Given the description of an element on the screen output the (x, y) to click on. 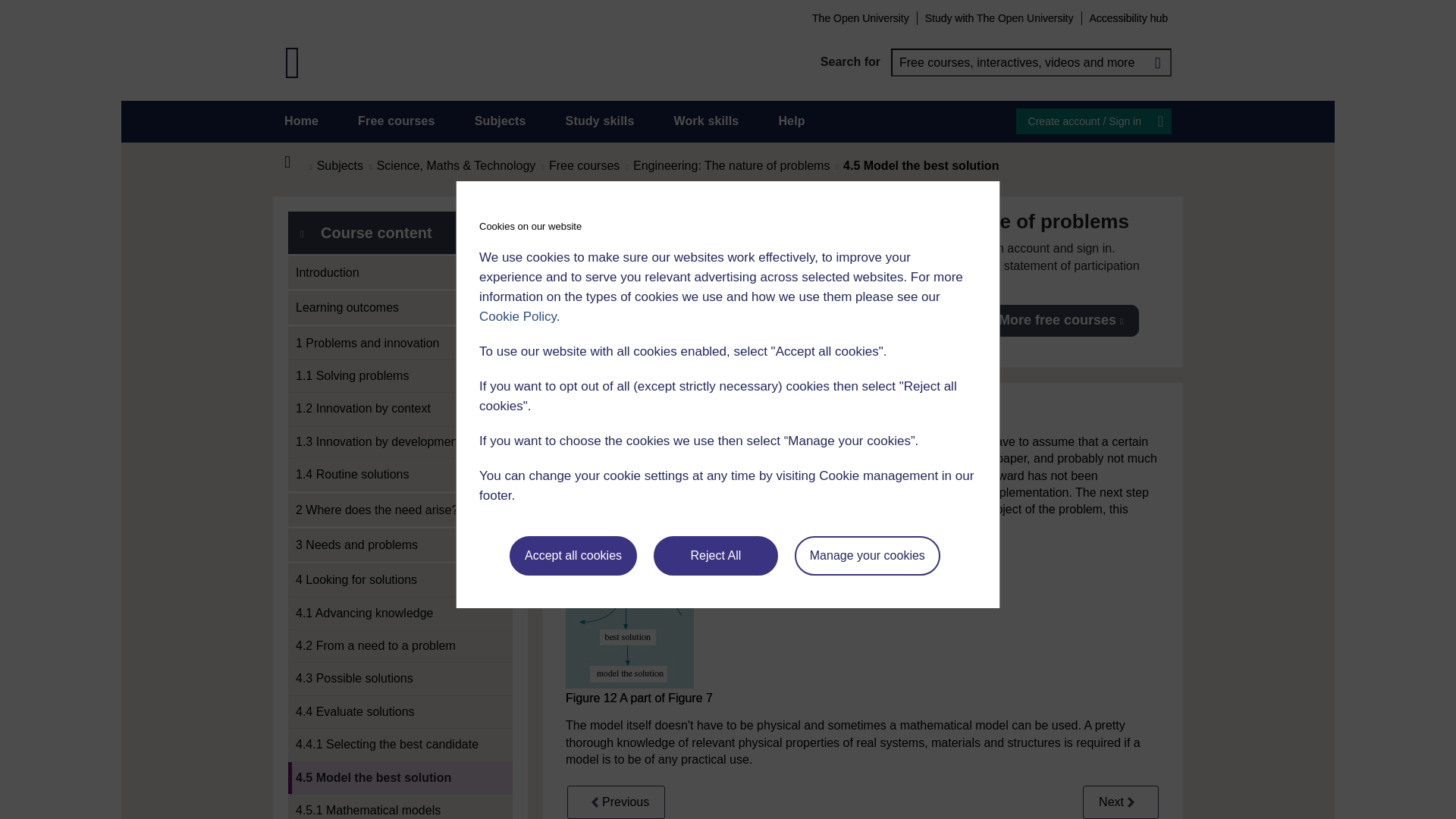
Manage your cookies (867, 555)
Home (300, 120)
Study with The Open University (999, 17)
Help (791, 120)
Cookie Policy (517, 316)
Reject All (715, 555)
The Open University (860, 17)
Search (1157, 62)
Work skills (705, 120)
Accessibility hub (1129, 17)
